Given the description of an element on the screen output the (x, y) to click on. 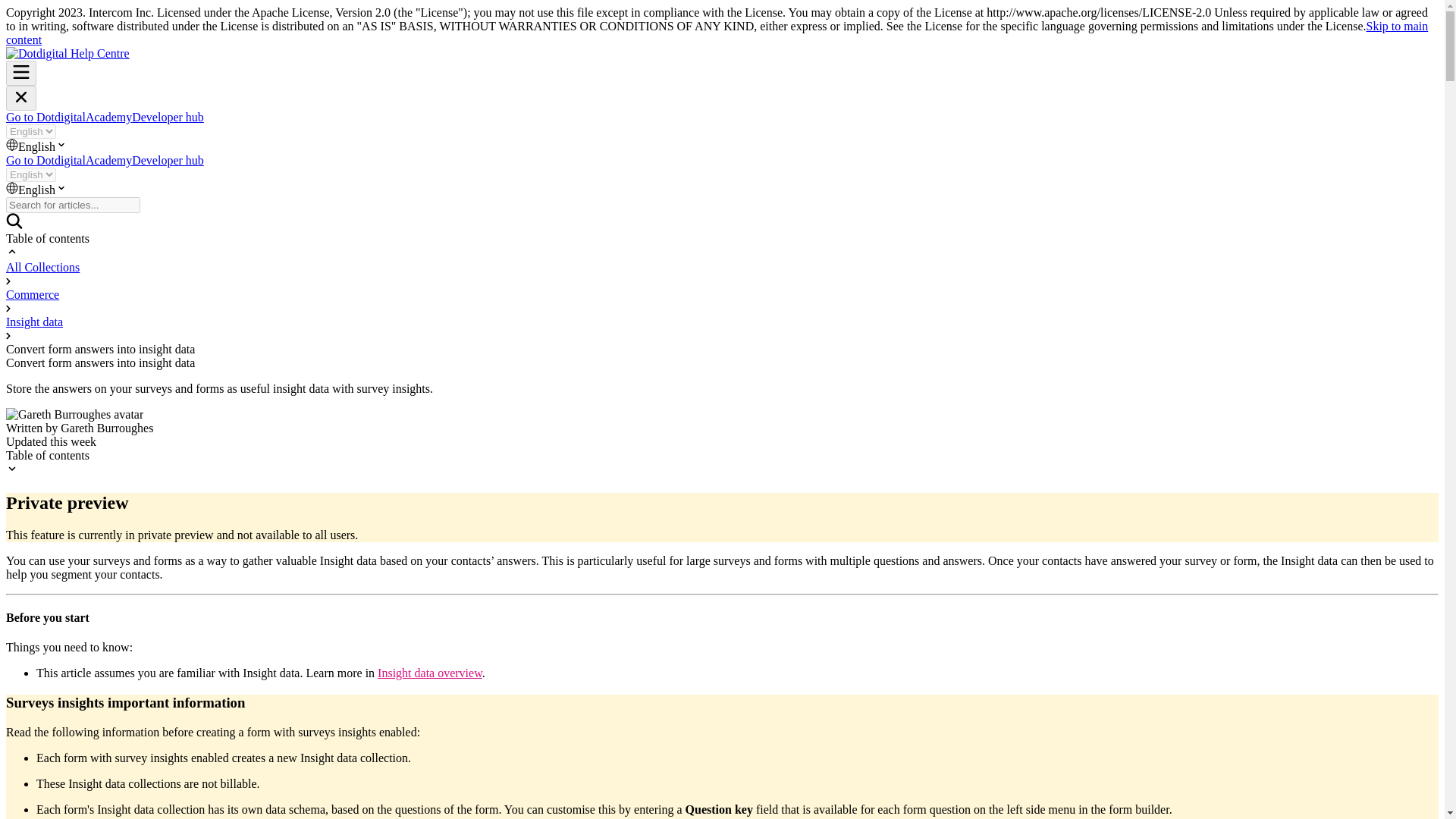
Skip to main content (716, 32)
Go to Dotdigital (45, 116)
Go to Dotdigital (45, 160)
All Collections (42, 267)
Academy (108, 116)
Developer hub (167, 160)
Developer hub (167, 116)
Commerce (32, 294)
Insight data (33, 321)
Academy (108, 160)
